Given the description of an element on the screen output the (x, y) to click on. 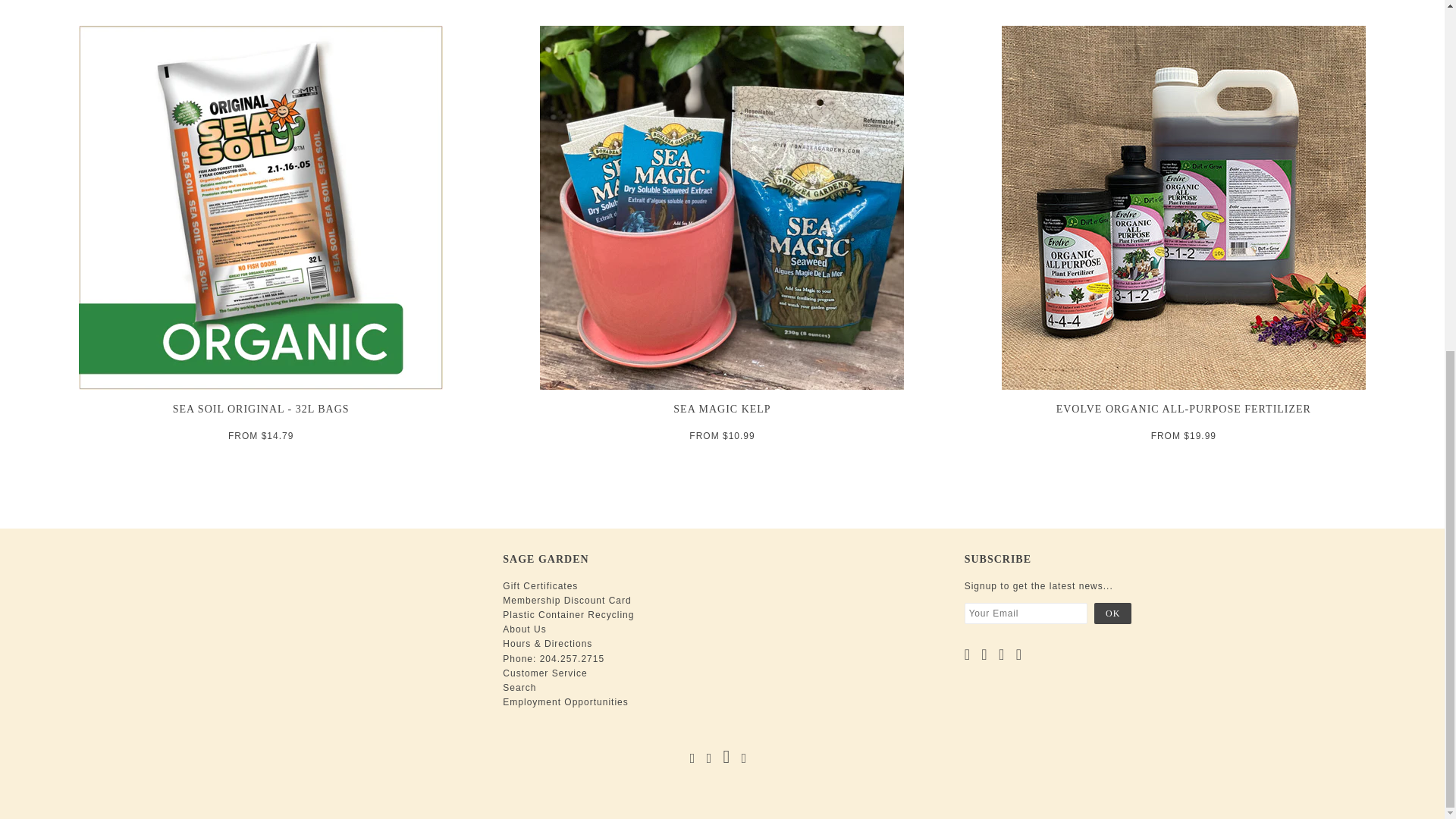
OK (1112, 613)
